Given the description of an element on the screen output the (x, y) to click on. 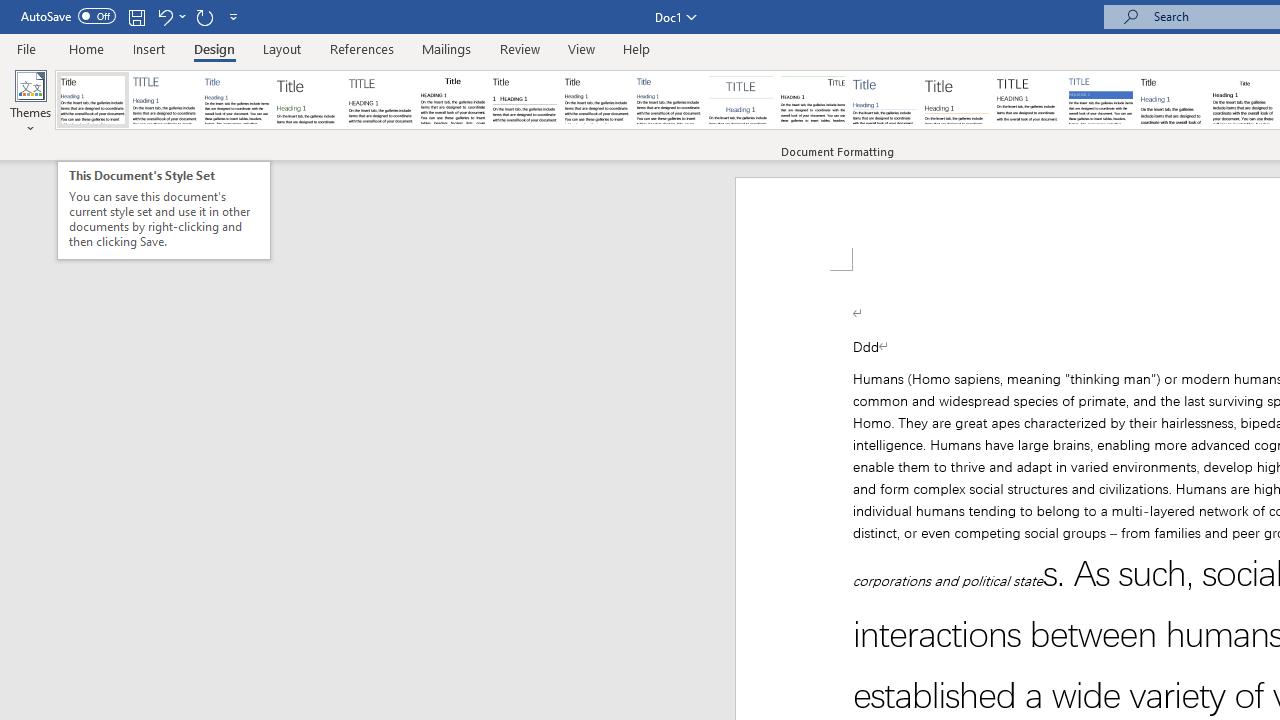
Undo Apply Quick Style Set (164, 15)
Word (1172, 100)
Repeat Accessibility Checker (204, 15)
Shaded (1100, 100)
Black & White (Capitalized) (381, 100)
Casual (669, 100)
Basic (Simple) (236, 100)
Basic (Stylish) (308, 100)
